Given the description of an element on the screen output the (x, y) to click on. 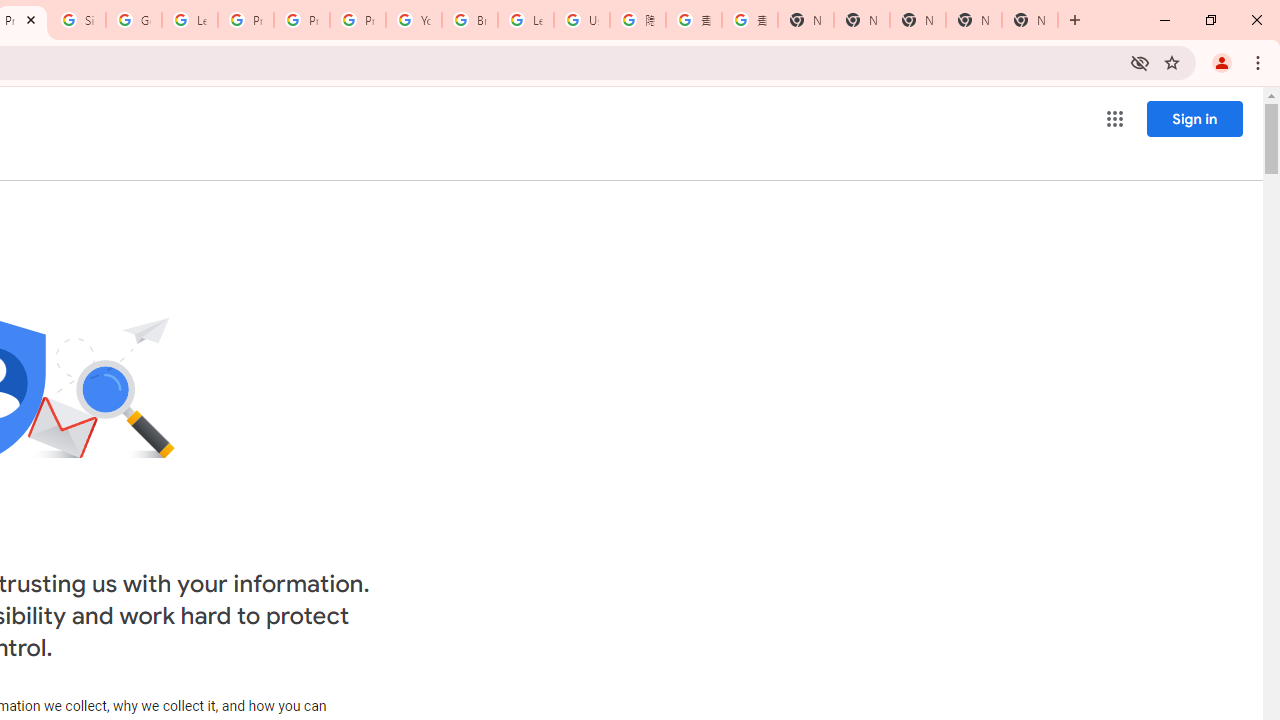
Privacy Help Center - Policies Help (301, 20)
Sign in - Google Accounts (77, 20)
YouTube (413, 20)
